Given the description of an element on the screen output the (x, y) to click on. 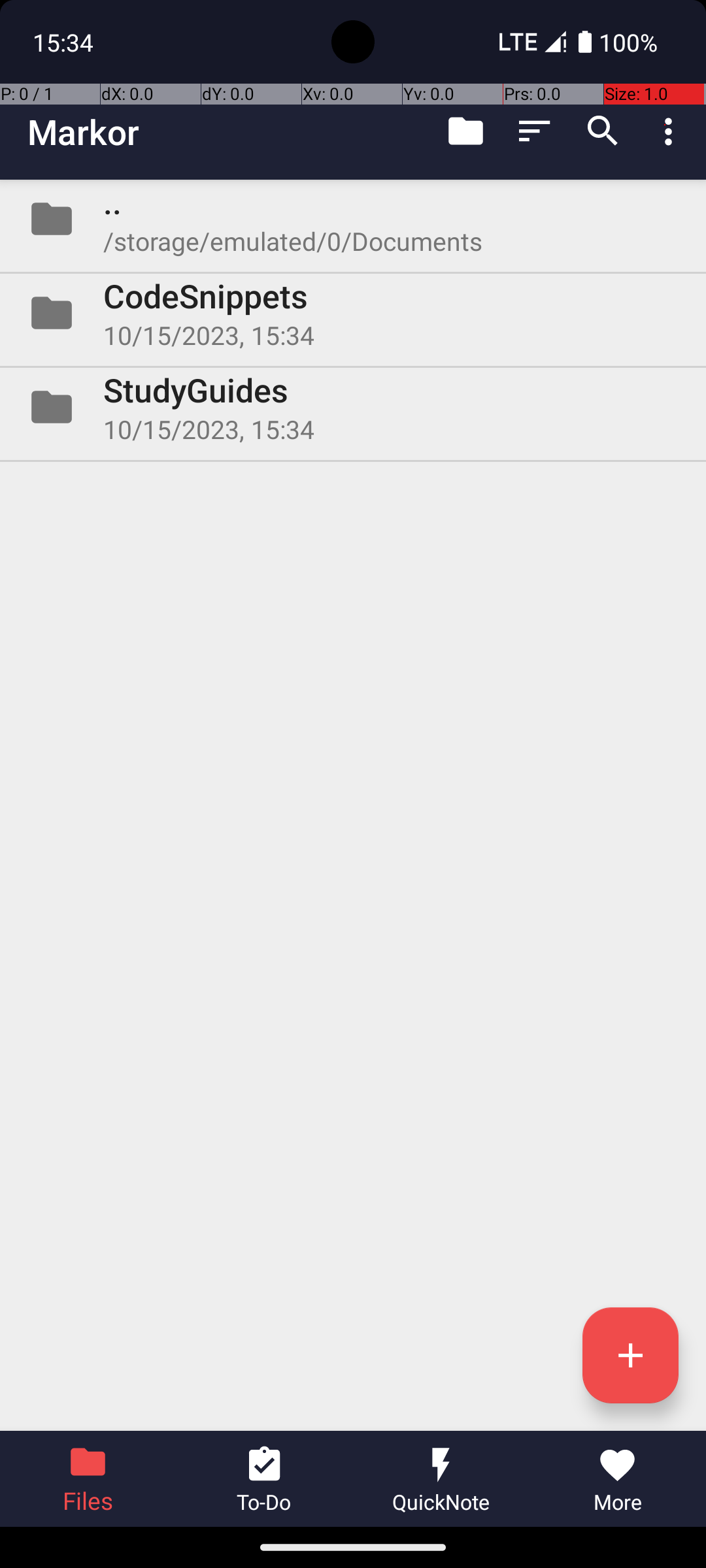
Folder CodeSnippets  Element type: android.widget.LinearLayout (353, 312)
Folder StudyGuides  Element type: android.widget.LinearLayout (353, 406)
